Given the description of an element on the screen output the (x, y) to click on. 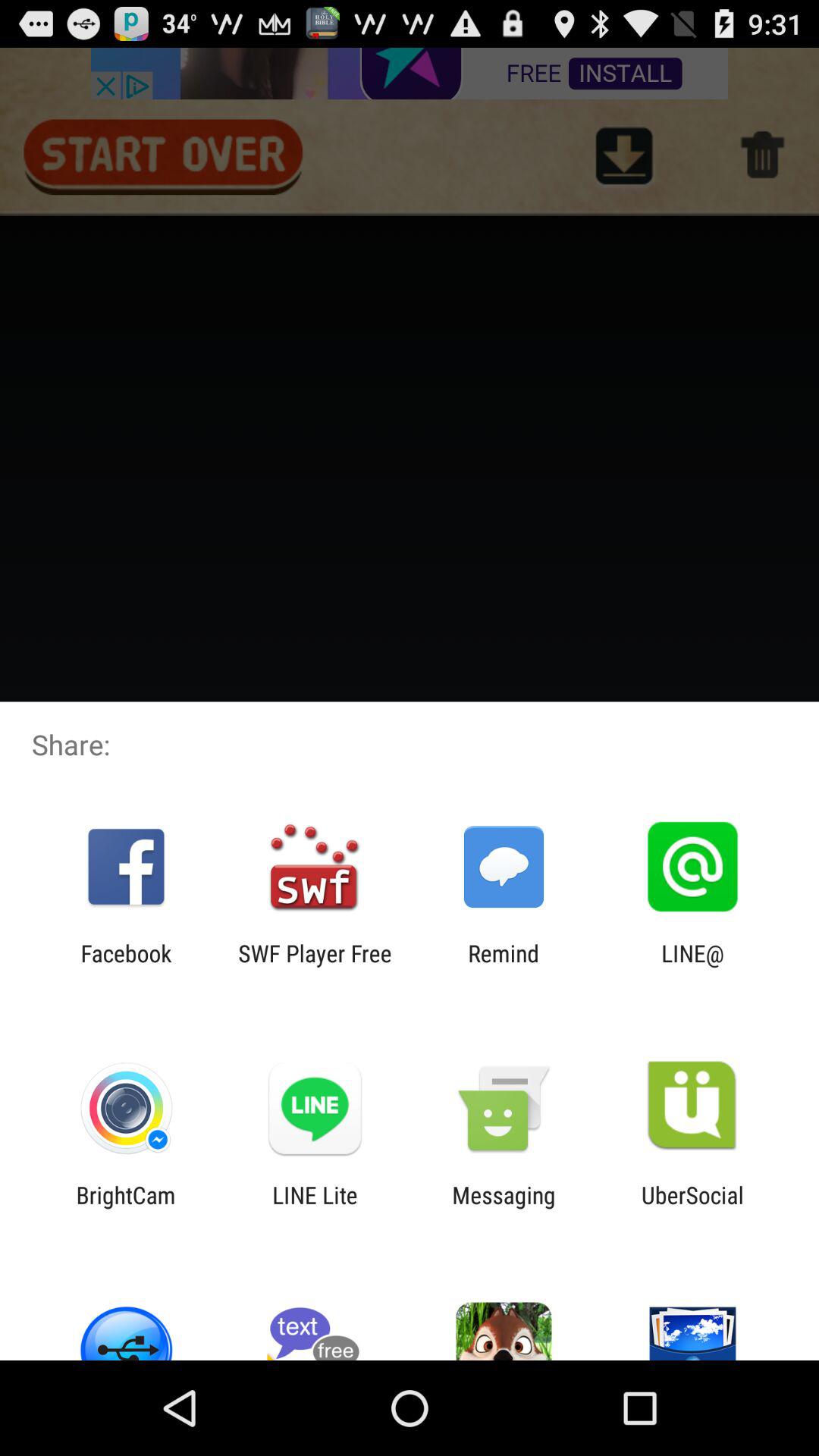
tap the item next to the line lite item (125, 1208)
